Given the description of an element on the screen output the (x, y) to click on. 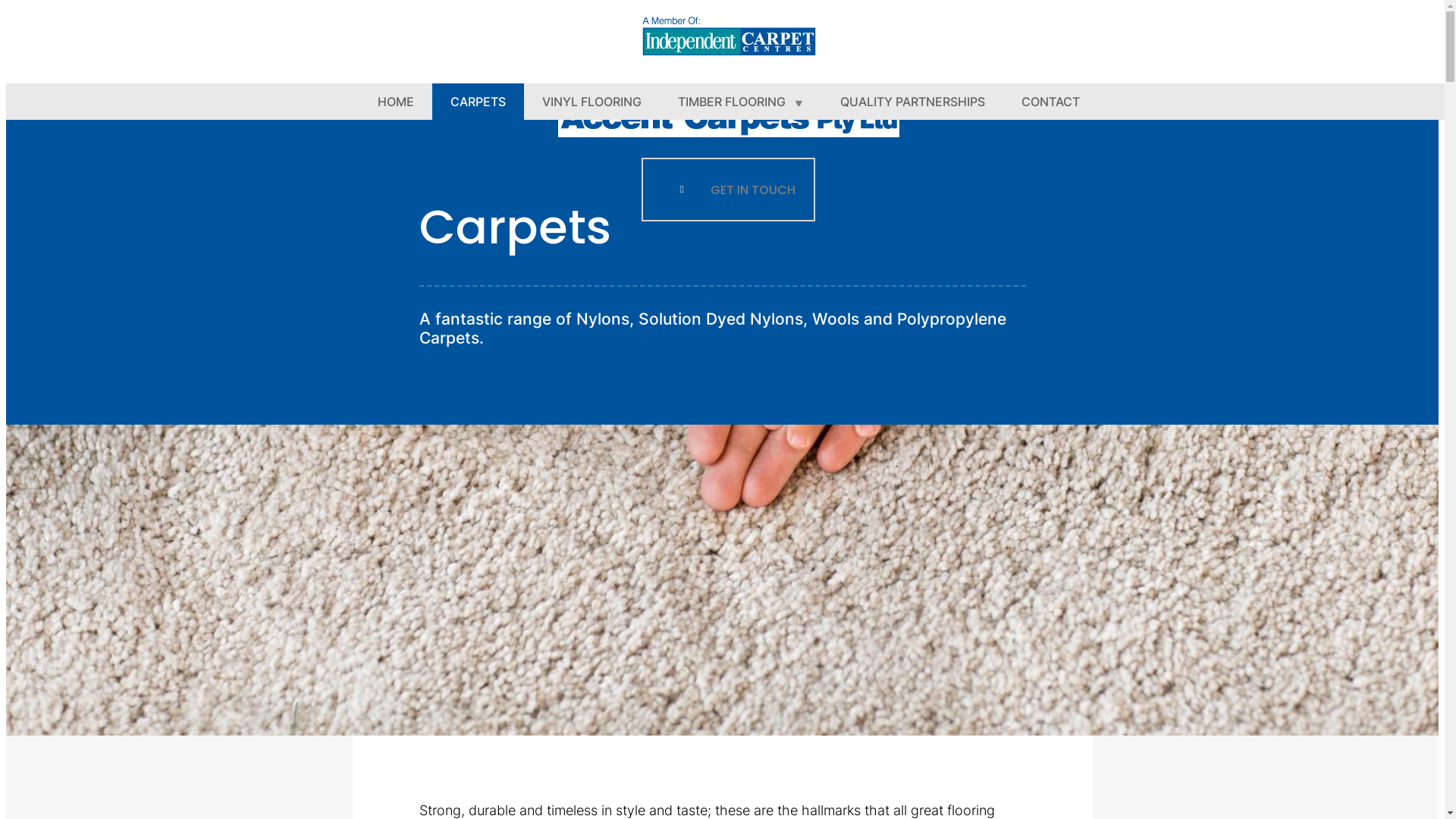
GET IN TOUCH Element type: text (728, 189)
VINYL FLOORING Element type: text (590, 101)
CARPETS Element type: text (478, 101)
QUALITY PARTNERSHIPS Element type: text (912, 101)
CONTACT Element type: text (1049, 101)
HOME Element type: text (395, 101)
Skip to main content Element type: text (6, 113)
